Given the description of an element on the screen output the (x, y) to click on. 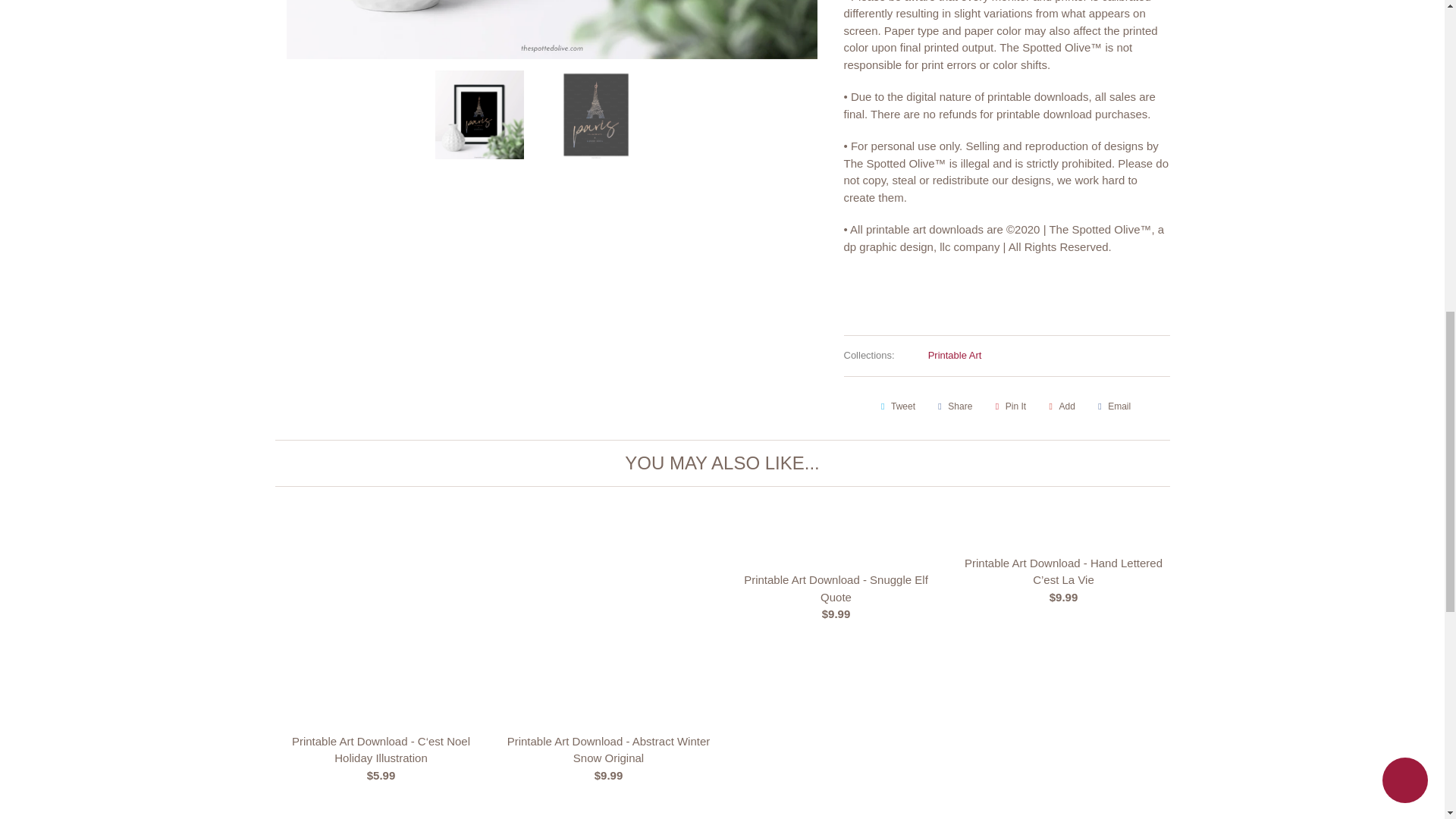
Share this on Facebook (952, 405)
Share this on Twitter (896, 405)
Browse Printable Art (954, 355)
Share this on Pinterest (1008, 405)
Email this to a friend (1112, 405)
